Given the description of an element on the screen output the (x, y) to click on. 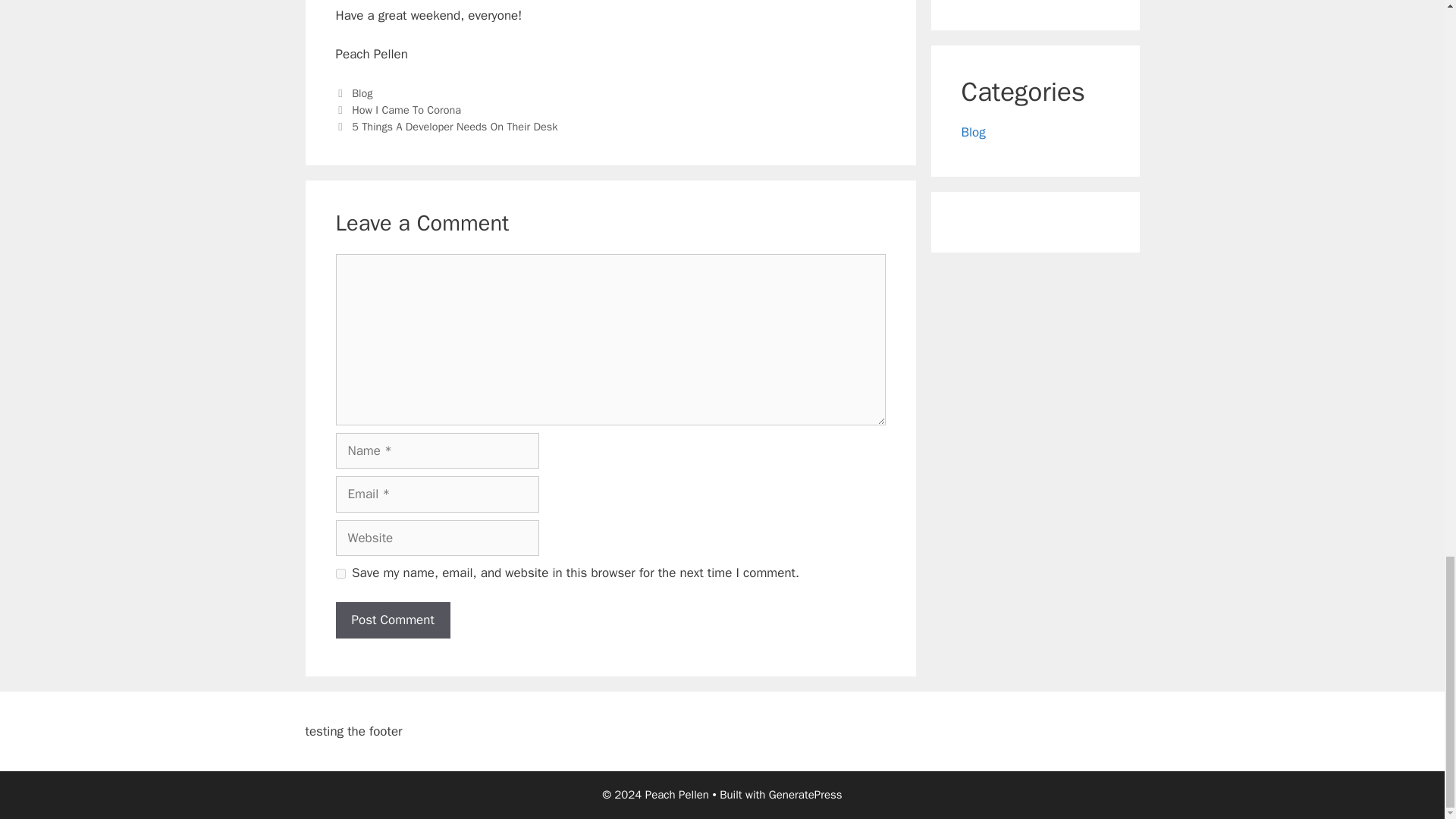
5 Things A Developer Needs On Their Desk (454, 126)
GeneratePress (805, 794)
Blog (362, 92)
Blog (972, 132)
Post Comment (391, 619)
yes (339, 573)
How I Came To Corona (406, 110)
Post Comment (391, 619)
